Given the description of an element on the screen output the (x, y) to click on. 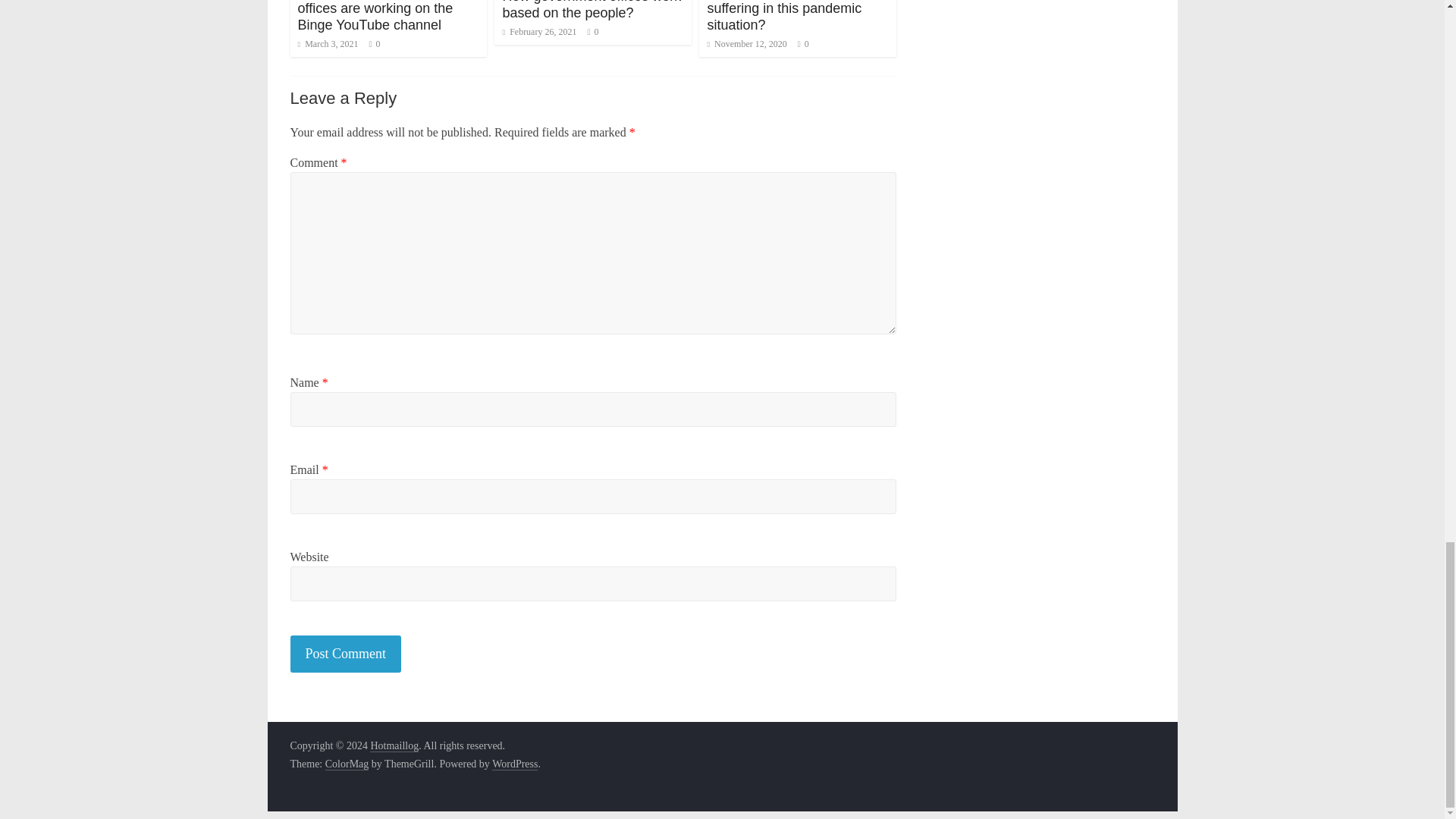
How government offices work based on the people? (591, 10)
February 26, 2021 (539, 31)
March 3, 2021 (327, 43)
How government offices work based on the people? (591, 10)
Post Comment (345, 653)
8:34 am (327, 43)
12:12 pm (539, 31)
